Given the description of an element on the screen output the (x, y) to click on. 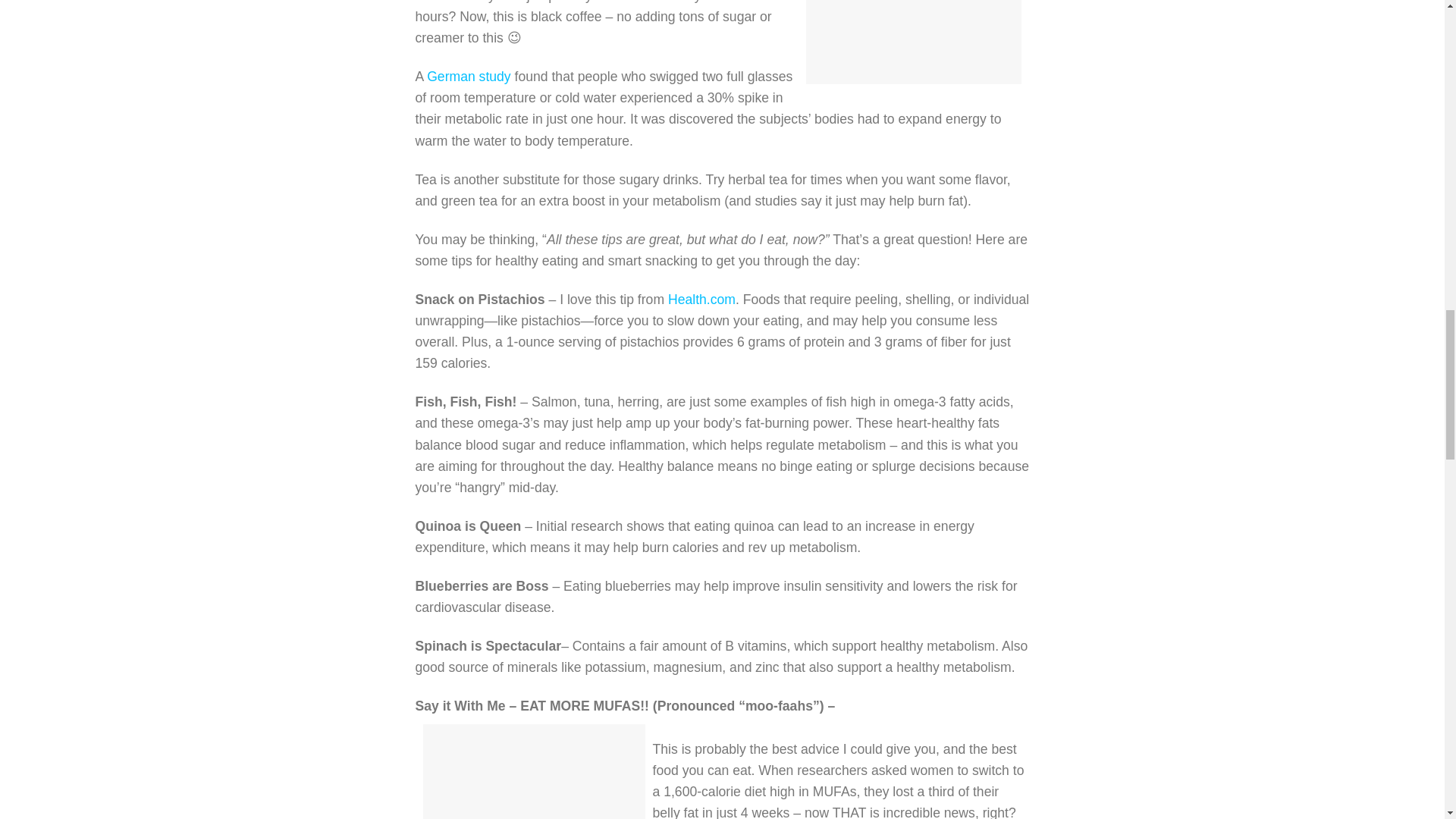
German study (468, 76)
Health.com (701, 299)
